Given the description of an element on the screen output the (x, y) to click on. 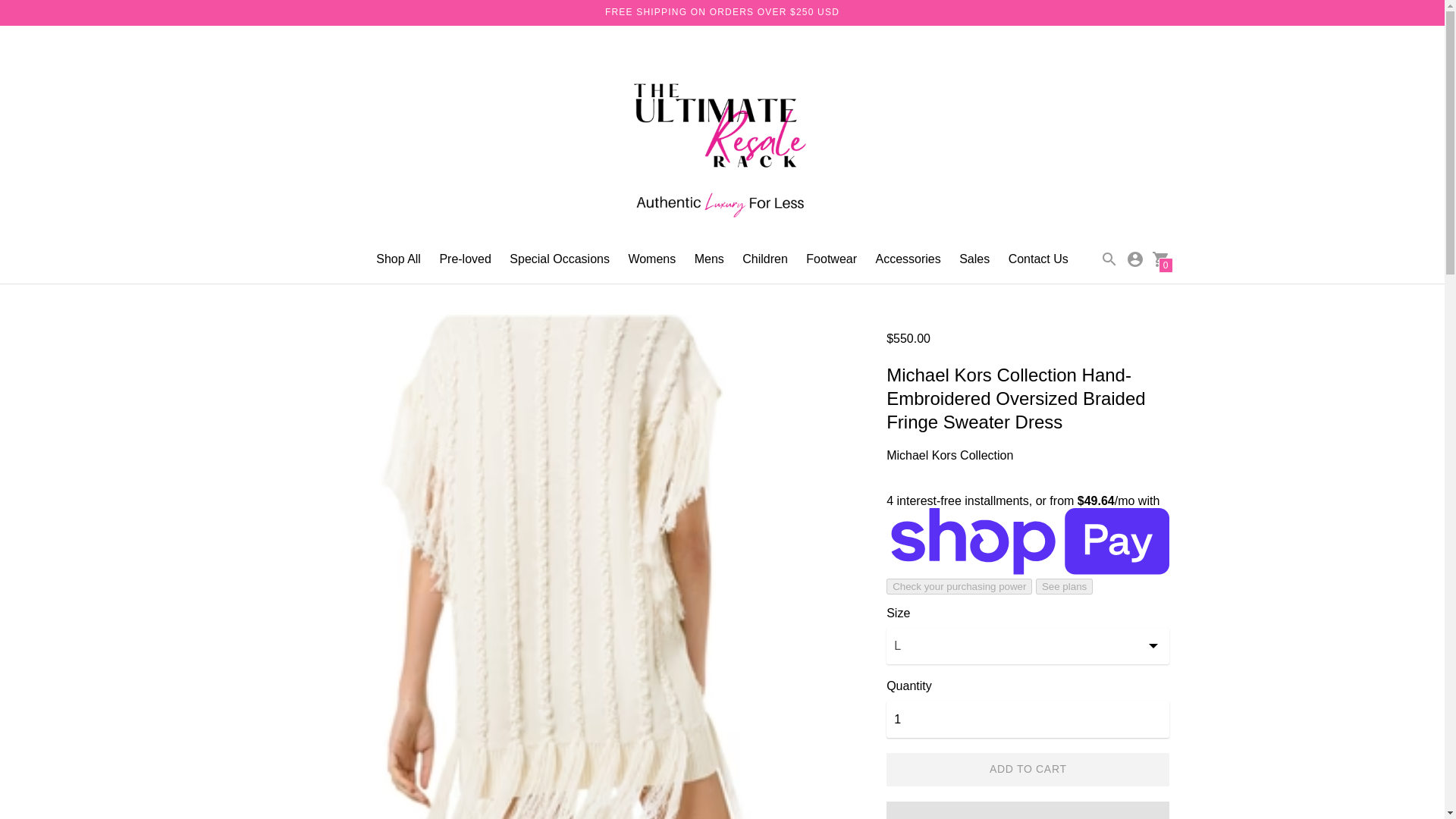
0 (1160, 257)
Accessories (907, 258)
Mens (708, 258)
Shop All (397, 258)
Pre-loved (464, 258)
Footwear (831, 258)
1 (1027, 719)
Womens (651, 258)
Sales (974, 258)
Special Occasions (559, 258)
